Given the description of an element on the screen output the (x, y) to click on. 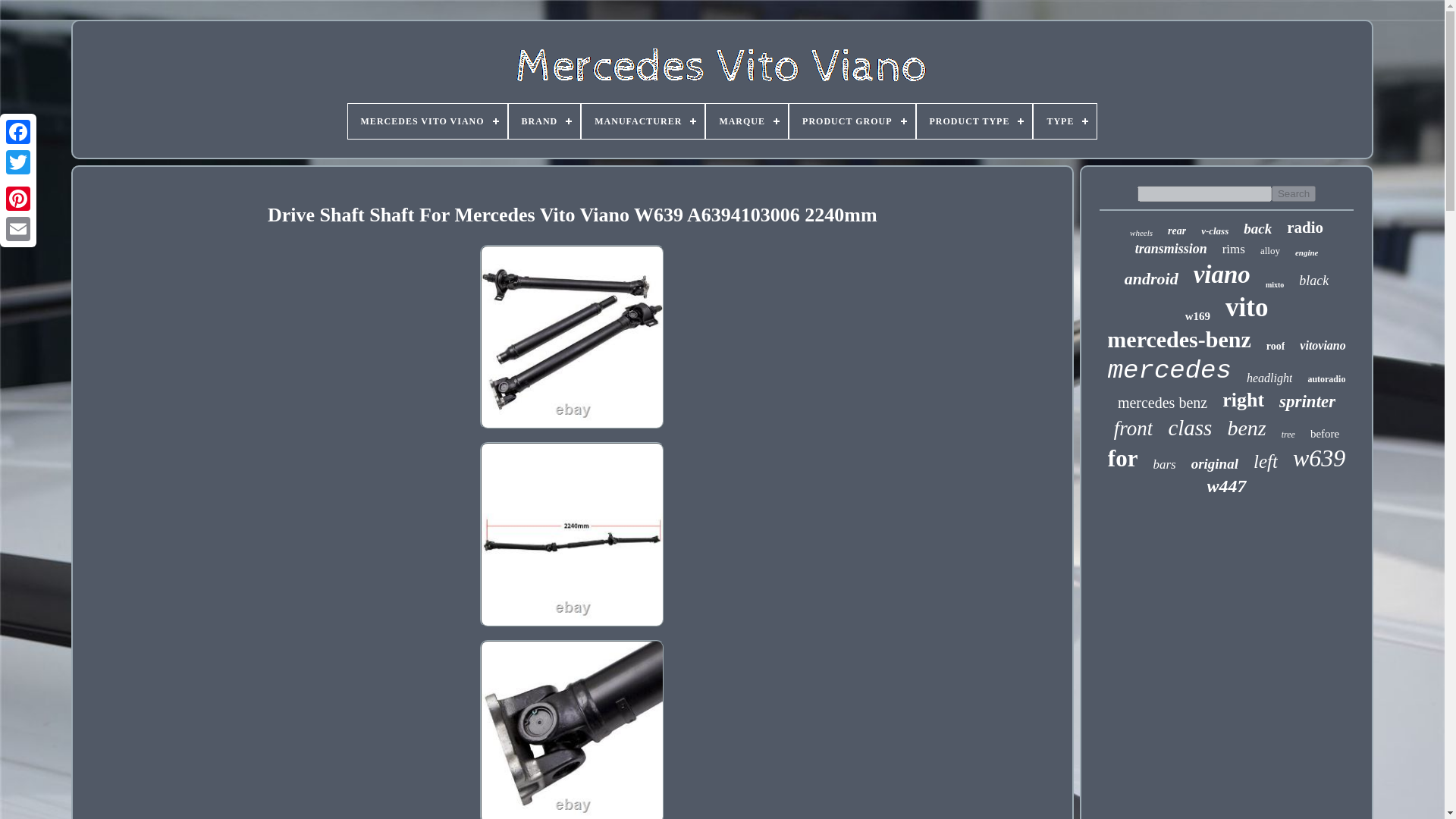
BRAND (544, 121)
Search (1293, 193)
MERCEDES VITO VIANO (426, 121)
MANUFACTURER (642, 121)
